Given the description of an element on the screen output the (x, y) to click on. 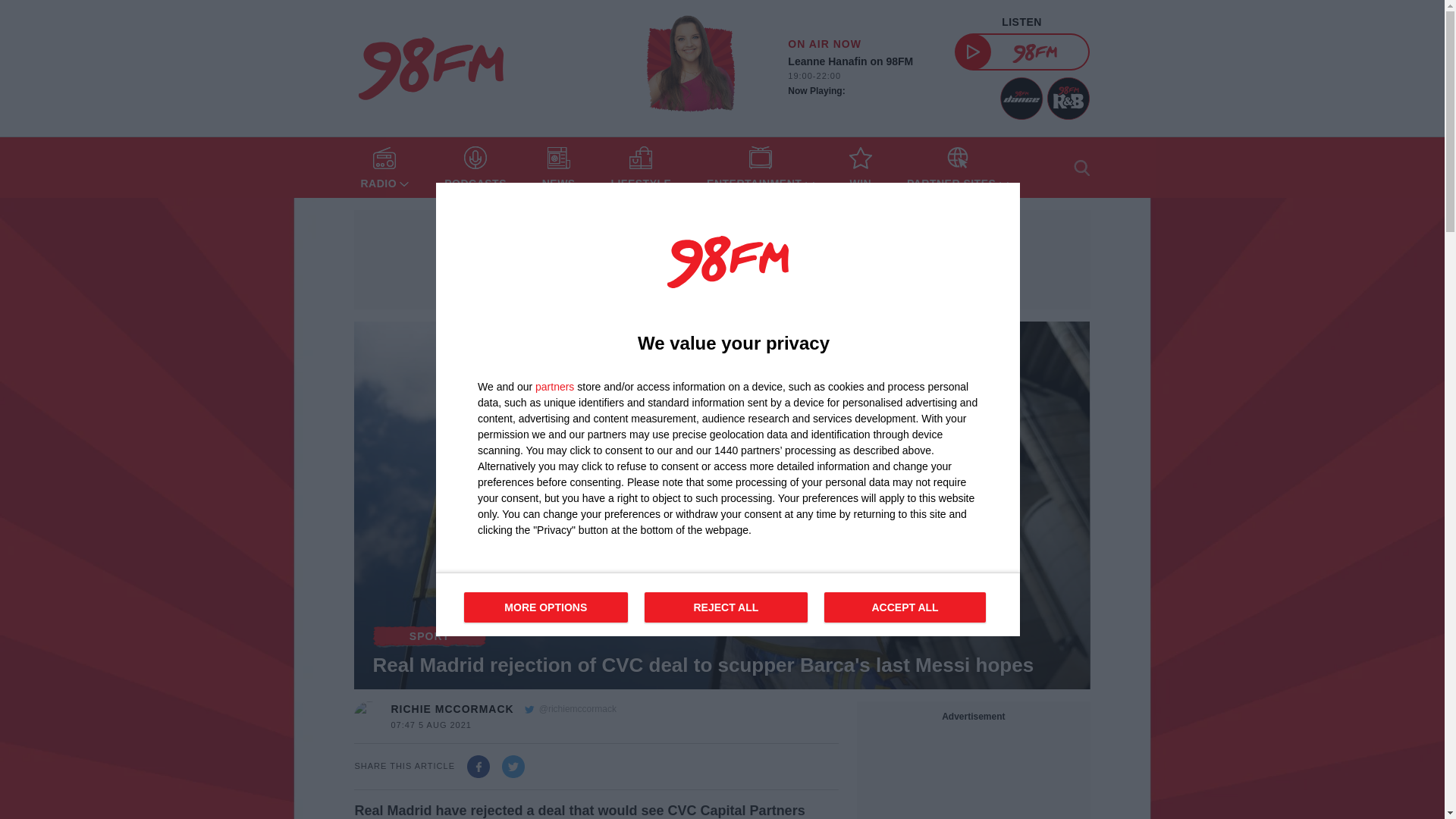
News (557, 167)
Lifestyle (640, 167)
LIFESTYLE (640, 167)
Podcasts (475, 167)
partners (554, 386)
NEWS (557, 167)
WIN (860, 167)
PODCASTS (475, 167)
MORE OPTIONS (545, 607)
SPORT (727, 604)
ACCEPT ALL (429, 635)
Leanne Hanafin on 98FM (860, 76)
Win (904, 607)
